Given the description of an element on the screen output the (x, y) to click on. 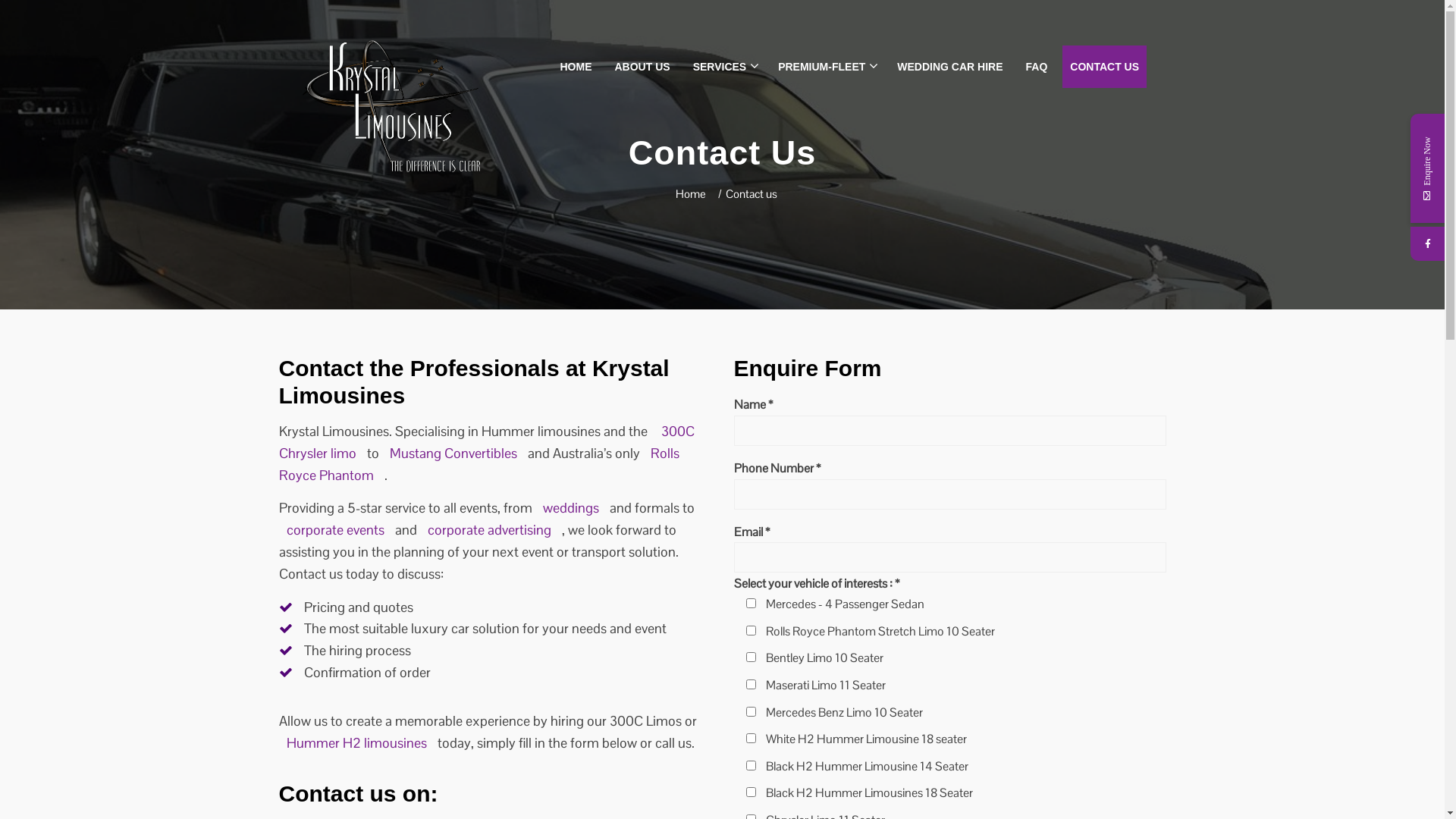
Rolls Royce Phantom Element type: text (479, 463)
Mustang Convertibles Element type: text (454, 452)
https://www.facebook.com/Krystal-Limousines-102069332207/ Element type: hover (1426, 243)
CONTACT US Element type: text (1104, 66)
corporate advertising Element type: text (490, 529)
HOME Element type: text (575, 66)
weddings Element type: text (572, 507)
Home Element type: text (689, 193)
Hummer H2 limousines Element type: text (358, 742)
300C Chrysler limo Element type: text (486, 441)
SERVICES Element type: text (724, 66)
FAQ Element type: text (1036, 66)
corporate events Element type: text (337, 529)
WEDDING CAR HIRE Element type: text (949, 66)
ABOUT US Element type: text (641, 66)
PREMIUM-FLEET Element type: text (825, 66)
